Given the description of an element on the screen output the (x, y) to click on. 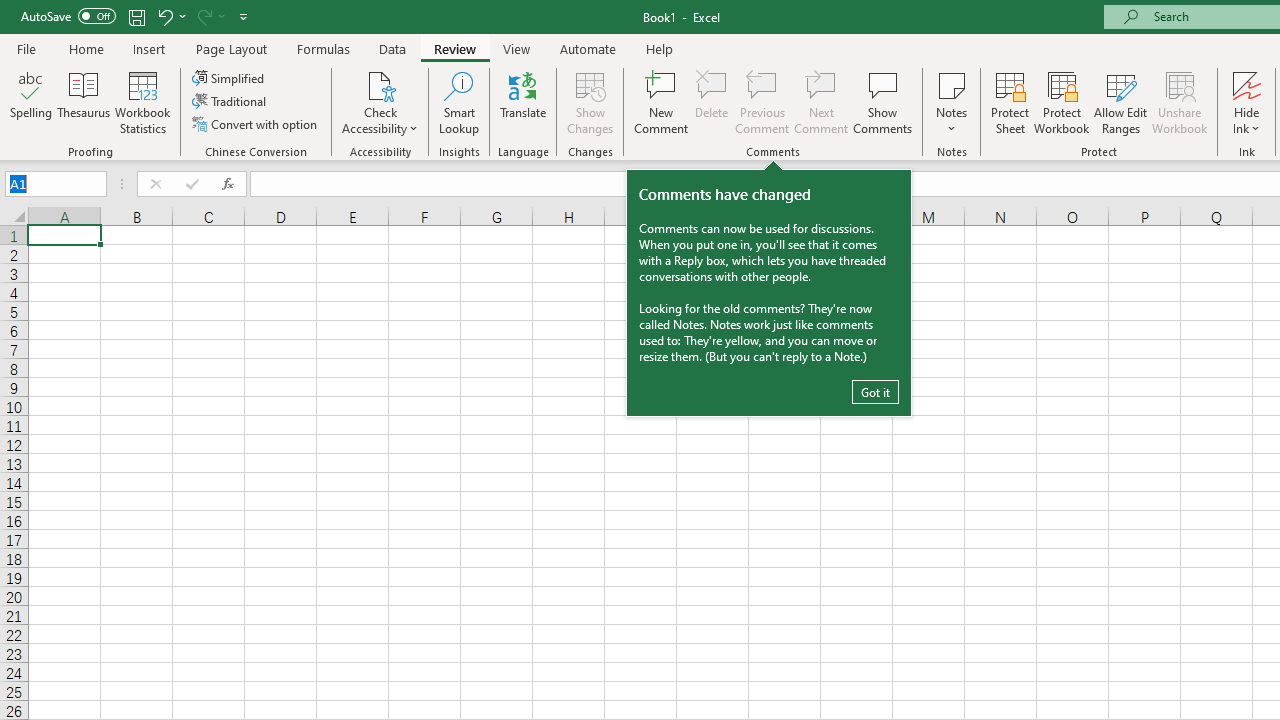
New Comment (661, 102)
Protect Sheet... (1010, 102)
Next Comment (821, 102)
Convert with option (256, 124)
Hide Ink (1247, 84)
Allow Edit Ranges (1120, 102)
Check Accessibility (380, 102)
Unshare Workbook (1179, 102)
